Given the description of an element on the screen output the (x, y) to click on. 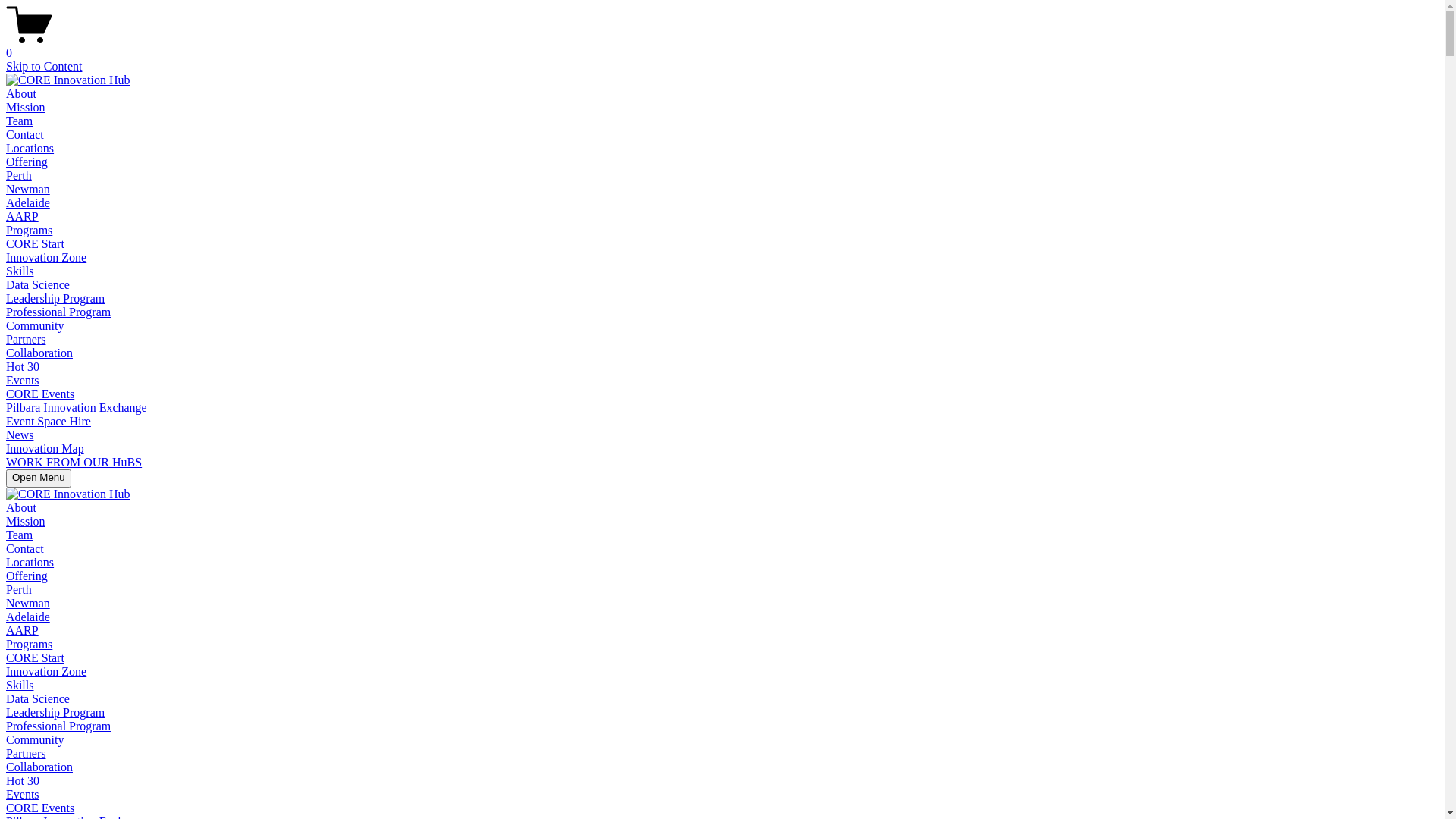
Data Science Element type: text (37, 698)
Contact Element type: text (24, 548)
Programs Element type: text (29, 229)
Partners Element type: text (25, 752)
Newman Element type: text (28, 602)
Locations Element type: text (29, 147)
Offering Element type: text (26, 575)
Leadership Program Element type: text (55, 712)
Community Element type: text (34, 325)
Adelaide Element type: text (28, 202)
About Element type: text (21, 507)
Mission Element type: text (25, 106)
Perth Element type: text (18, 589)
Mission Element type: text (25, 520)
CORE Events Element type: text (40, 807)
CORE Start Element type: text (35, 657)
Professional Program Element type: text (58, 311)
AARP Element type: text (22, 630)
WORK FROM OUR HuBS Element type: text (73, 461)
Community Element type: text (34, 739)
Skills Element type: text (19, 684)
Collaboration Element type: text (39, 766)
Data Science Element type: text (37, 284)
Open Menu Element type: text (38, 478)
Hot 30 Element type: text (22, 366)
Newman Element type: text (28, 188)
Skills Element type: text (19, 270)
Adelaide Element type: text (28, 616)
Offering Element type: text (26, 161)
CORE Events Element type: text (40, 393)
Locations Element type: text (29, 561)
CORE Start Element type: text (35, 243)
Hot 30 Element type: text (22, 780)
Collaboration Element type: text (39, 352)
Perth Element type: text (18, 175)
Skip to Content Element type: text (43, 65)
Programs Element type: text (29, 643)
Innovation Map Element type: text (45, 448)
Events Element type: text (22, 379)
Innovation Zone Element type: text (46, 257)
0 Element type: text (722, 45)
Innovation Zone Element type: text (46, 671)
Partners Element type: text (25, 338)
Team Element type: text (19, 120)
About Element type: text (21, 93)
AARP Element type: text (22, 216)
Pilbara Innovation Exchange Element type: text (76, 407)
Event Space Hire Element type: text (48, 420)
Contact Element type: text (24, 134)
News Element type: text (19, 434)
Professional Program Element type: text (58, 725)
Events Element type: text (22, 793)
Team Element type: text (19, 534)
Leadership Program Element type: text (55, 297)
